Given the description of an element on the screen output the (x, y) to click on. 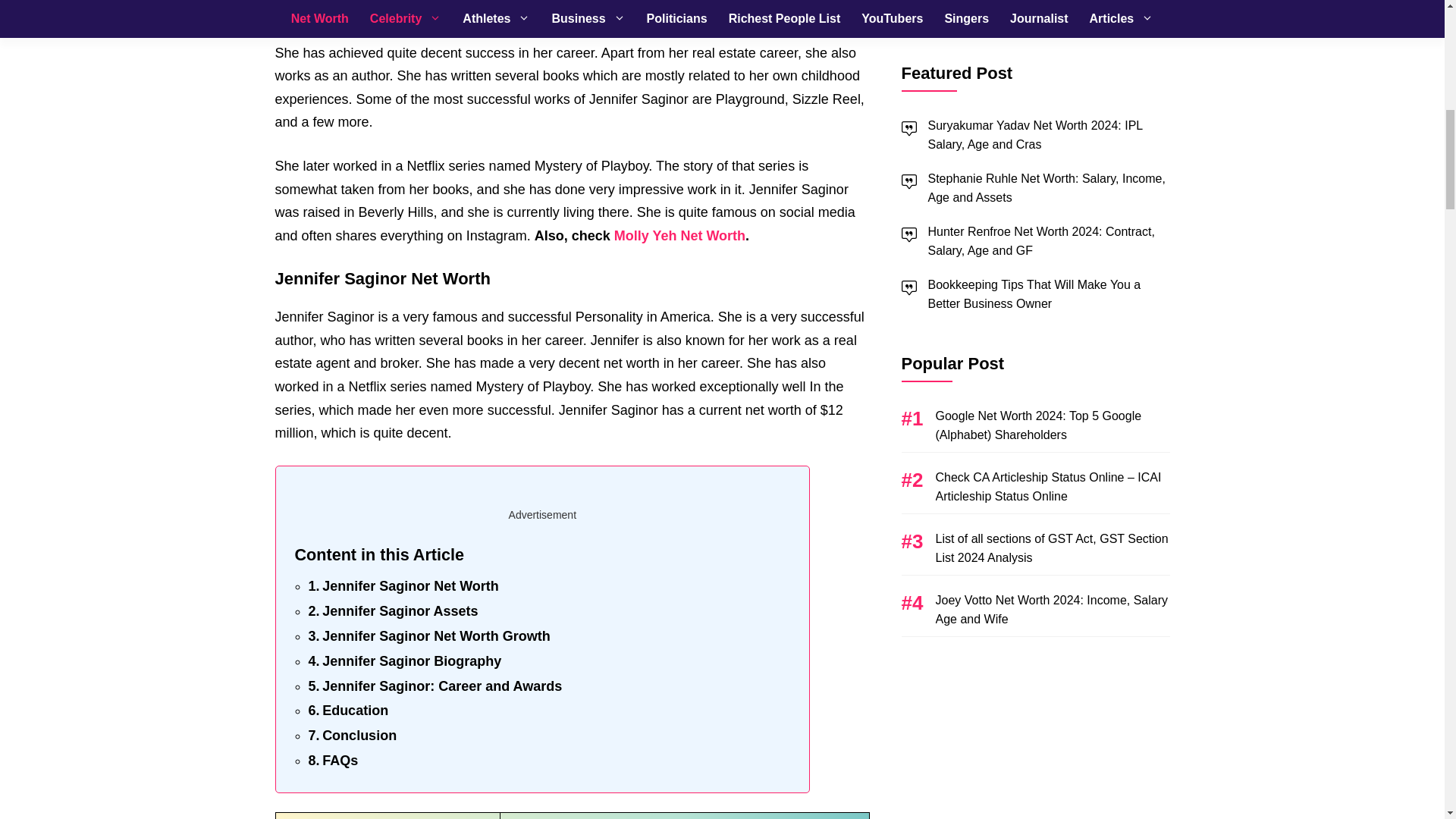
Jennifer Saginor Assets (392, 611)
FAQs (332, 761)
Jennifer Saginor Biography (403, 661)
Jennifer Saginor Net Worth (402, 586)
Conclusion (351, 735)
Jennifer Saginor Net Worth Growth (428, 636)
Jennifer Saginor: Career and Awards (434, 686)
Education (347, 710)
